Given the description of an element on the screen output the (x, y) to click on. 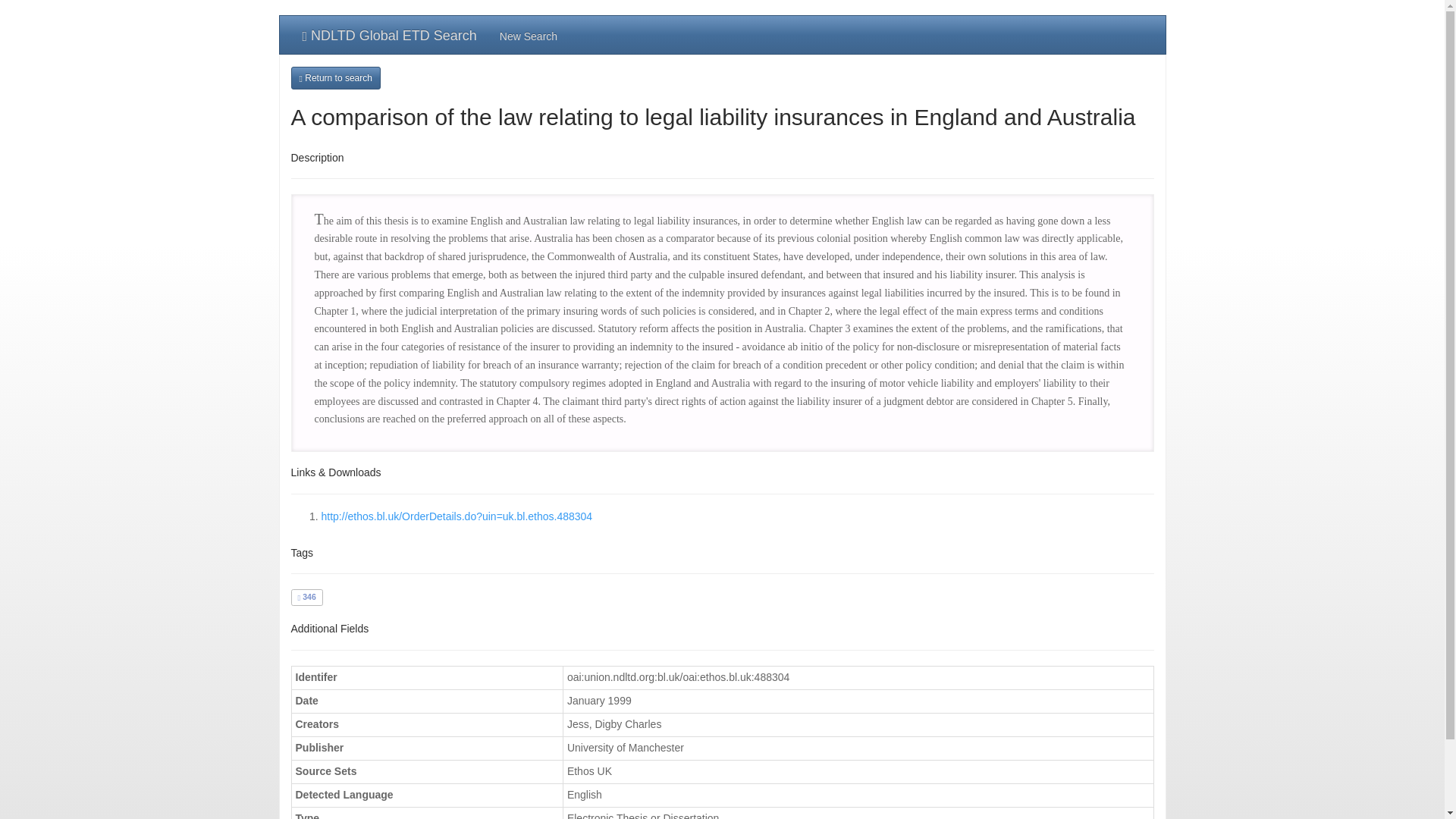
New Search (528, 34)
Return to search (335, 77)
346 (306, 596)
NDLTD Global ETD Search (389, 34)
